Given the description of an element on the screen output the (x, y) to click on. 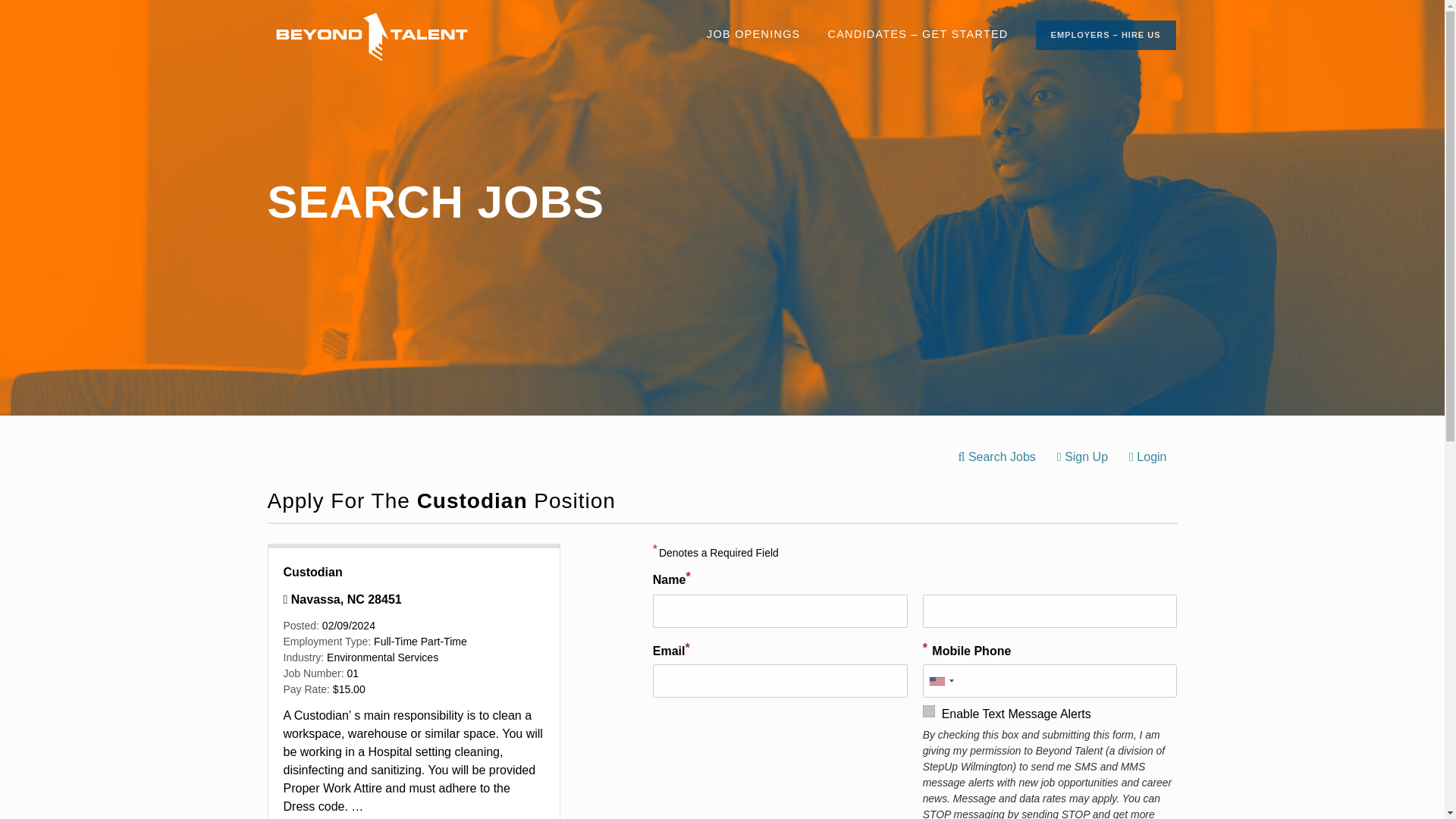
Search Jobs (997, 457)
JOB OPENINGS (753, 34)
Sign Up (1082, 457)
Login (1146, 457)
